Given the description of an element on the screen output the (x, y) to click on. 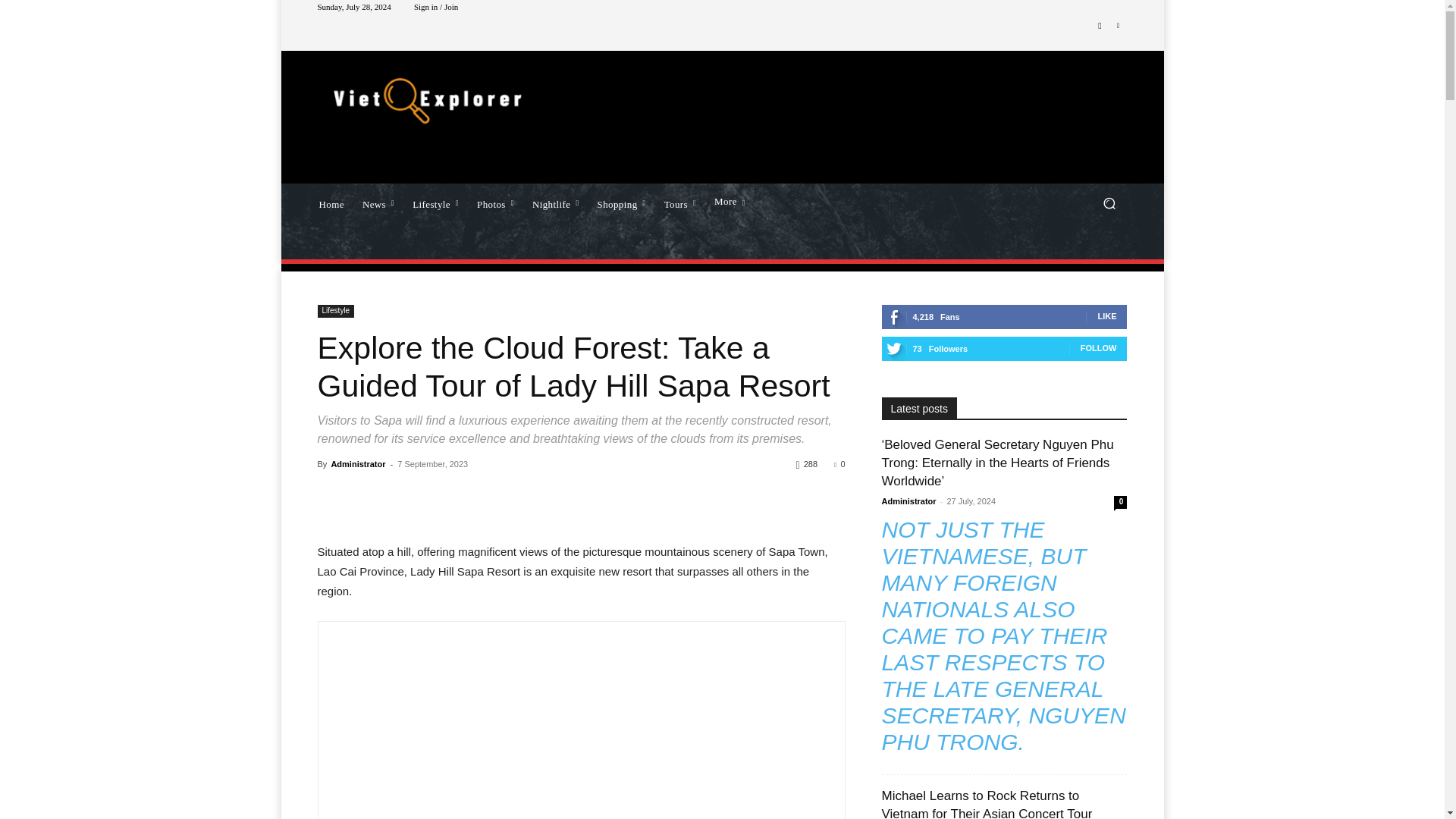
Lifestyle (435, 202)
Facebook (1099, 25)
Twitter (1117, 25)
Home (330, 202)
News (378, 202)
